Given the description of an element on the screen output the (x, y) to click on. 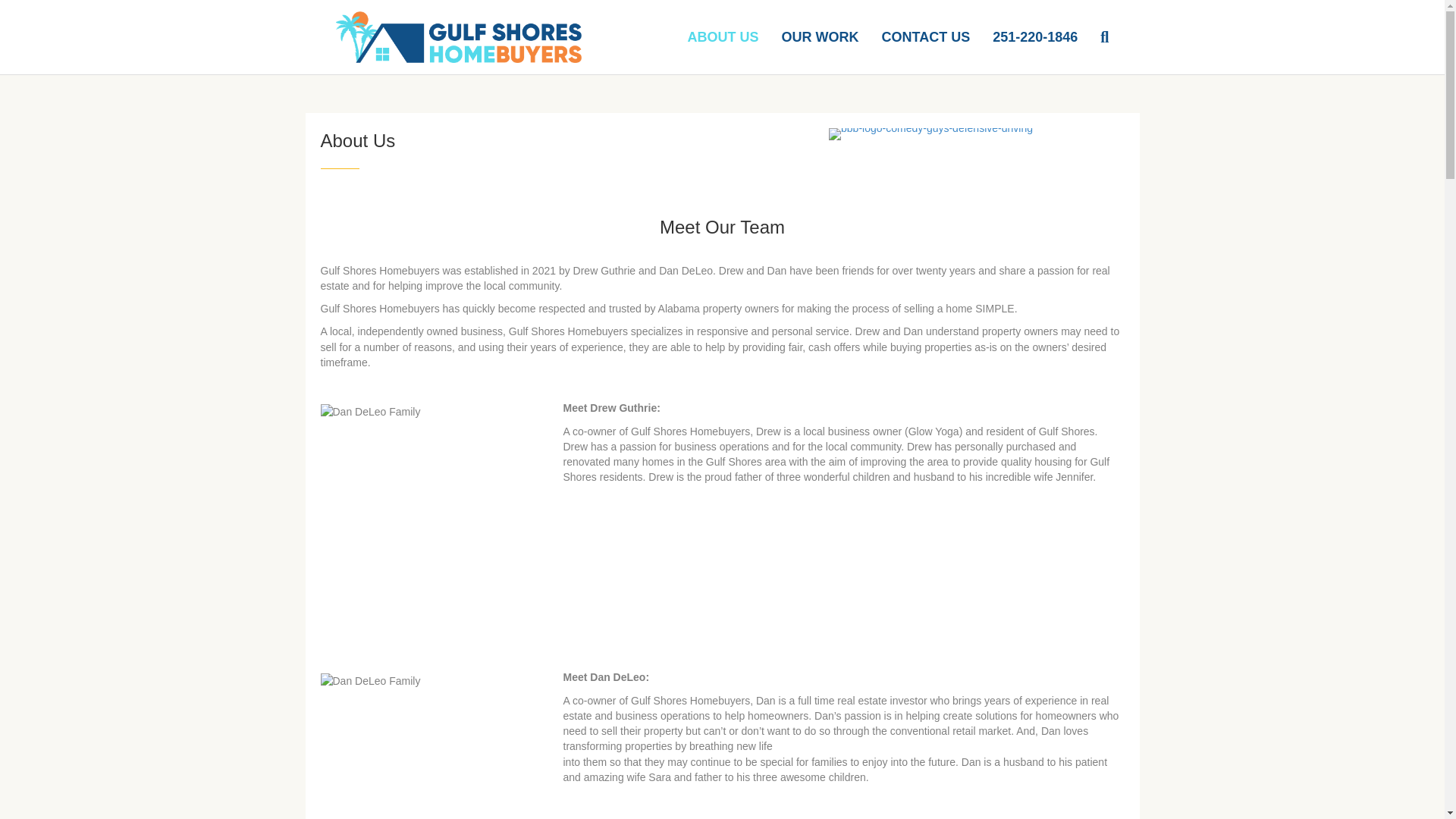
OUR WORK (820, 37)
bbb-logo-comedy-guys-defensive-driving (930, 133)
251-220-1846 (1035, 37)
ABOUT US (723, 37)
CONTACT US (925, 37)
